Given the description of an element on the screen output the (x, y) to click on. 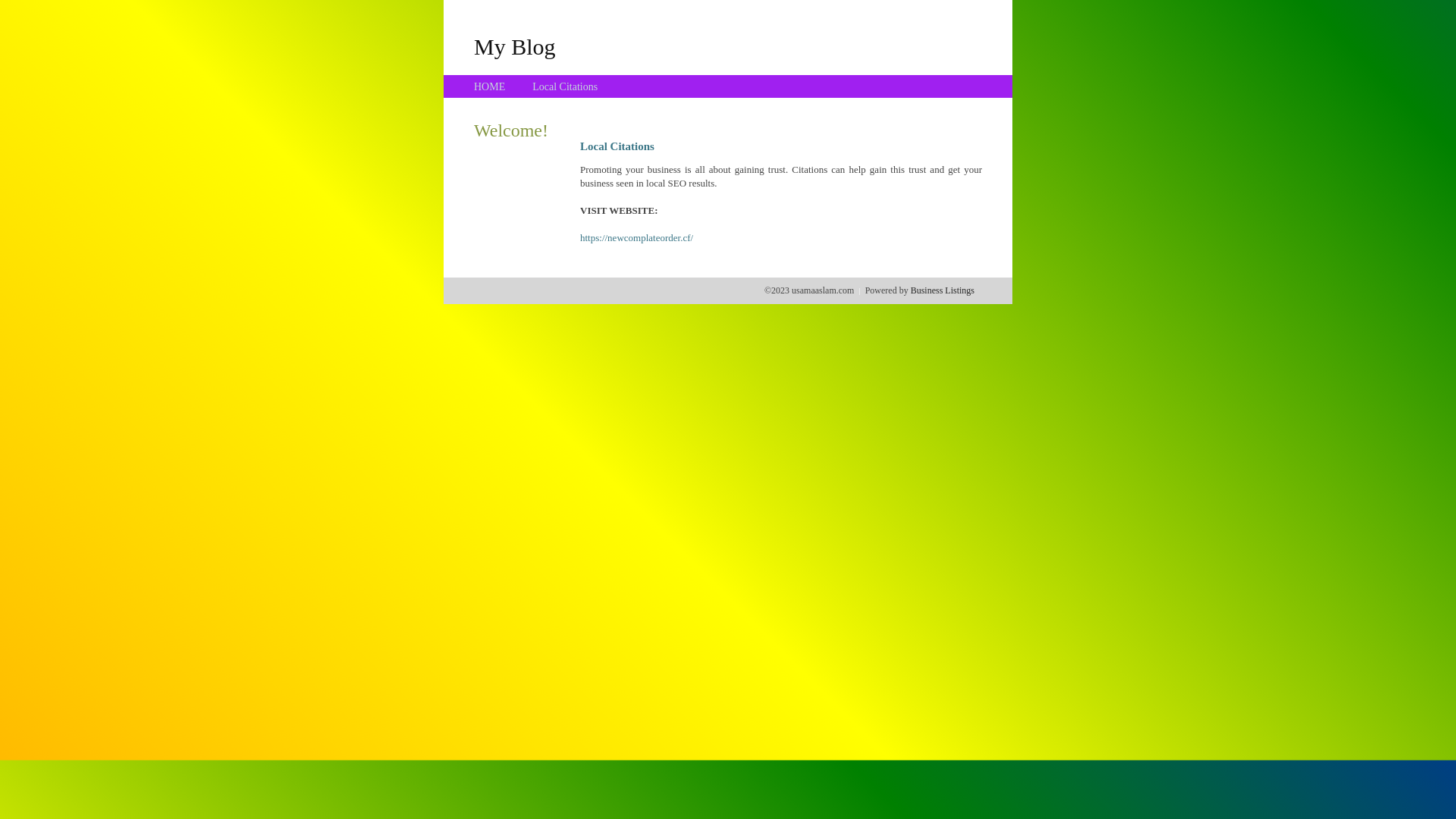
Business Listings Element type: text (942, 290)
https://newcomplateorder.cf/ Element type: text (636, 237)
Local Citations Element type: text (564, 86)
My Blog Element type: text (514, 46)
HOME Element type: text (489, 86)
